Given the description of an element on the screen output the (x, y) to click on. 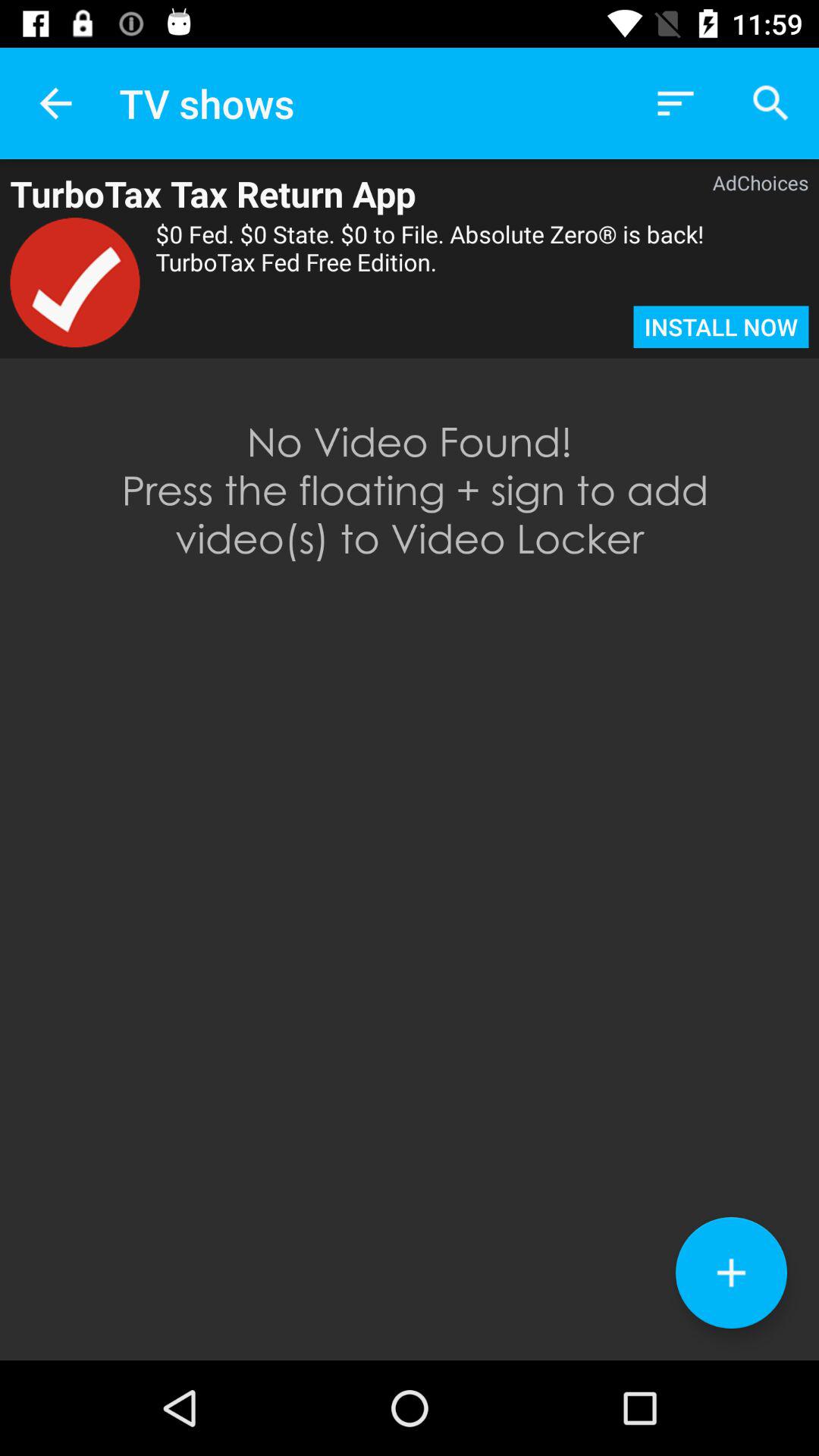
click the icon to the left of the 0 fed 0 item (74, 282)
